Given the description of an element on the screen output the (x, y) to click on. 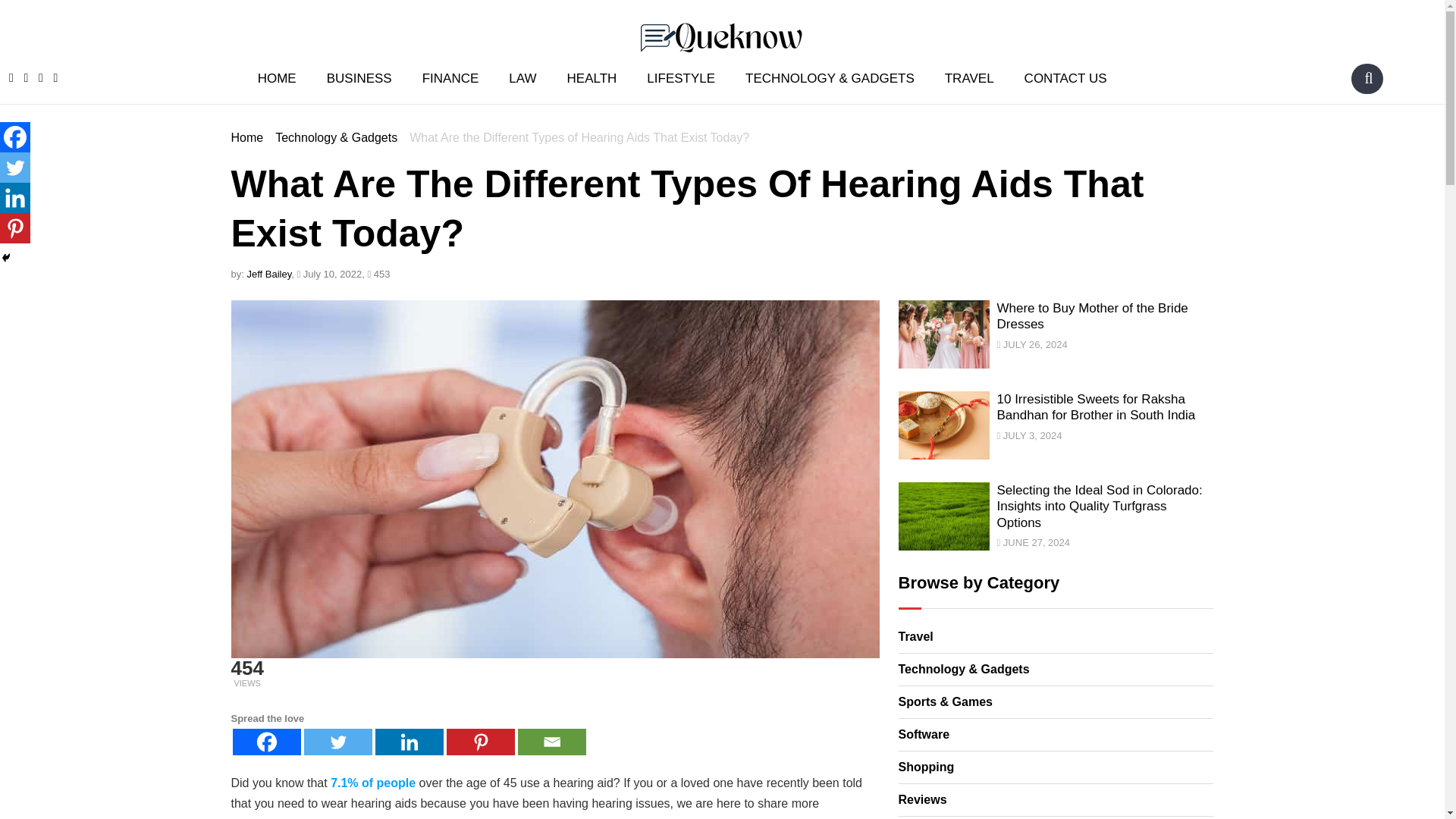
TRAVEL (969, 77)
Home (246, 137)
Twitter (336, 741)
July 10, 2022 (329, 274)
Facebook (15, 137)
Pinterest (479, 741)
Jeff Bailey (268, 274)
Search (1368, 77)
Linkedin (408, 741)
HEALTH (591, 77)
HOME (277, 77)
CONTACT US (1065, 77)
BUSINESS (359, 77)
453 (378, 274)
LAW (522, 77)
